Given the description of an element on the screen output the (x, y) to click on. 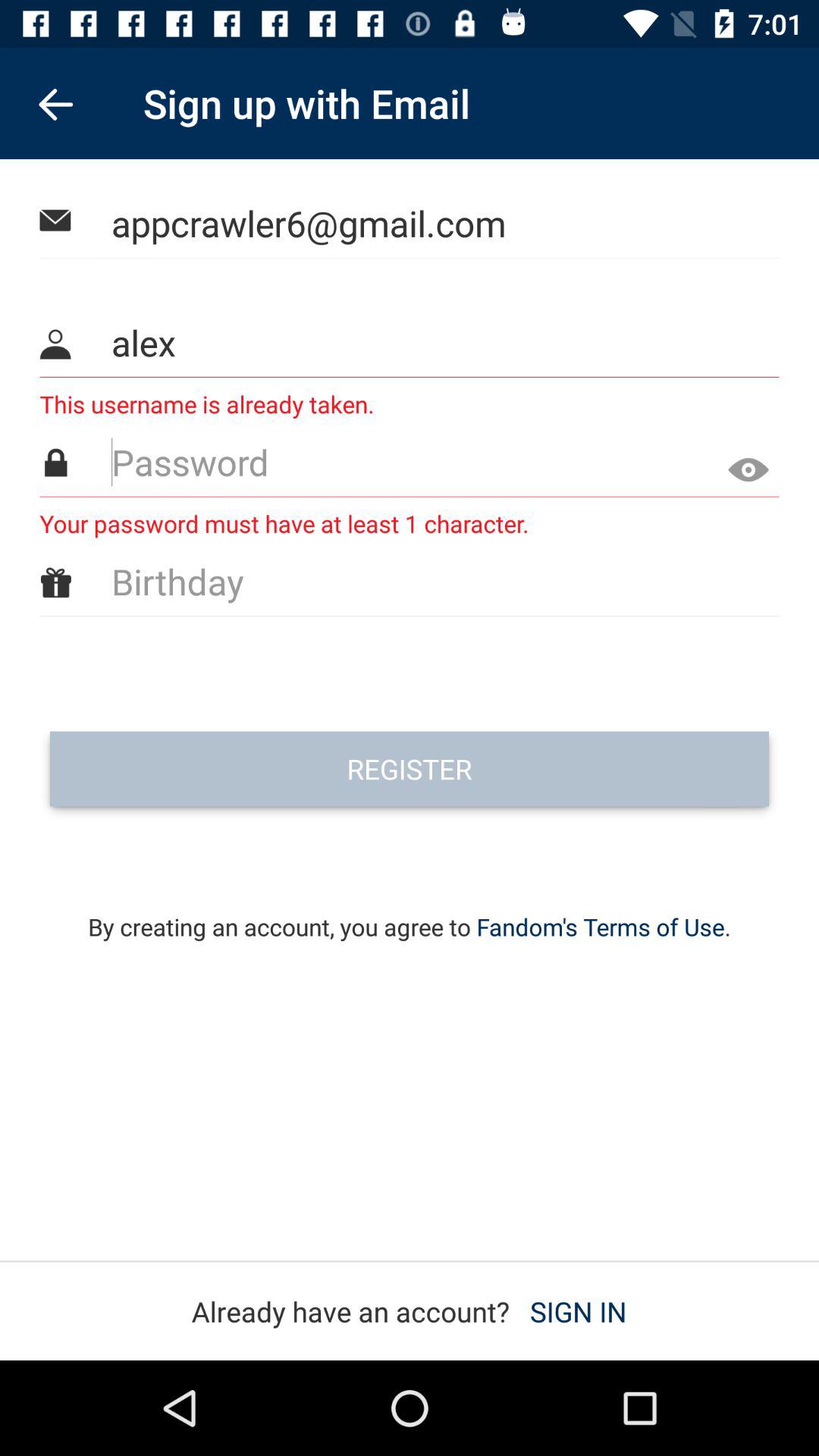
swipe to appcrawler6@gmail.com item (410, 223)
